Given the description of an element on the screen output the (x, y) to click on. 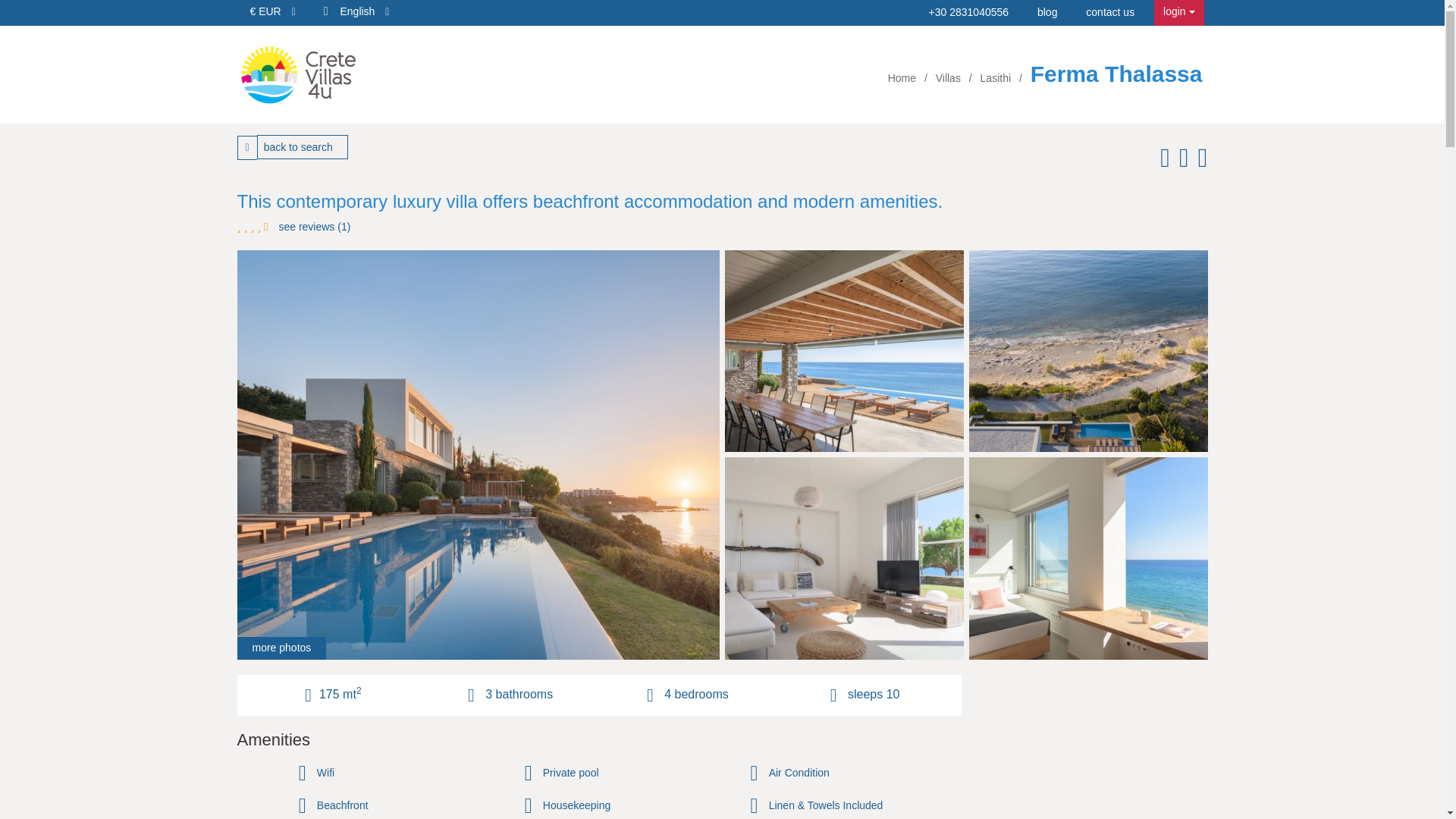
Villas (949, 78)
English (363, 10)
contact us (1110, 11)
blog (1046, 11)
login (1179, 12)
back to search (302, 146)
Home (903, 78)
share on facebook (1162, 162)
share this villa on facebook (1162, 162)
Lasithi (996, 78)
Ferma Thalassa (1116, 73)
